Given the description of an element on the screen output the (x, y) to click on. 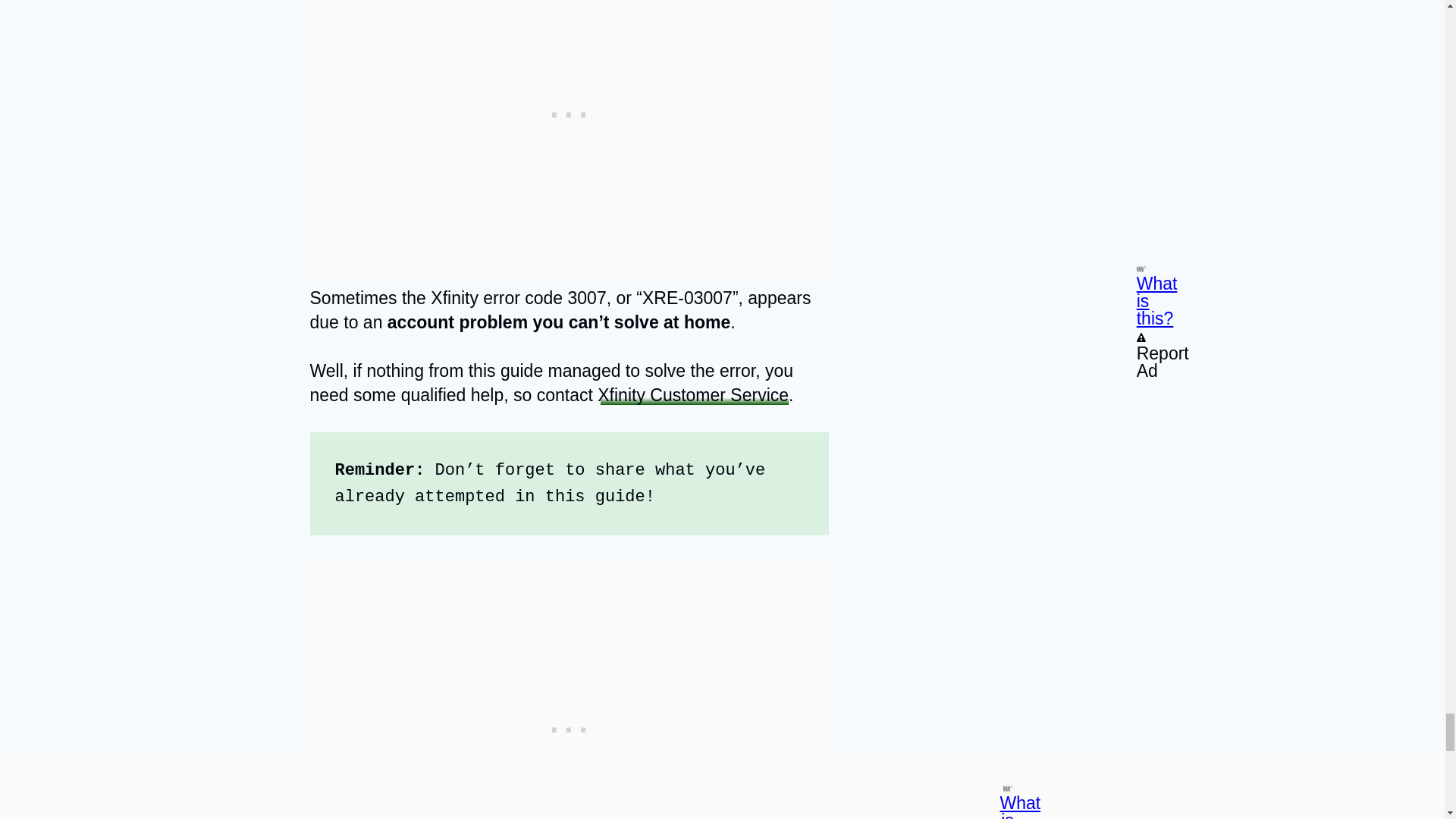
Xfinity Customer Service (692, 394)
